Given the description of an element on the screen output the (x, y) to click on. 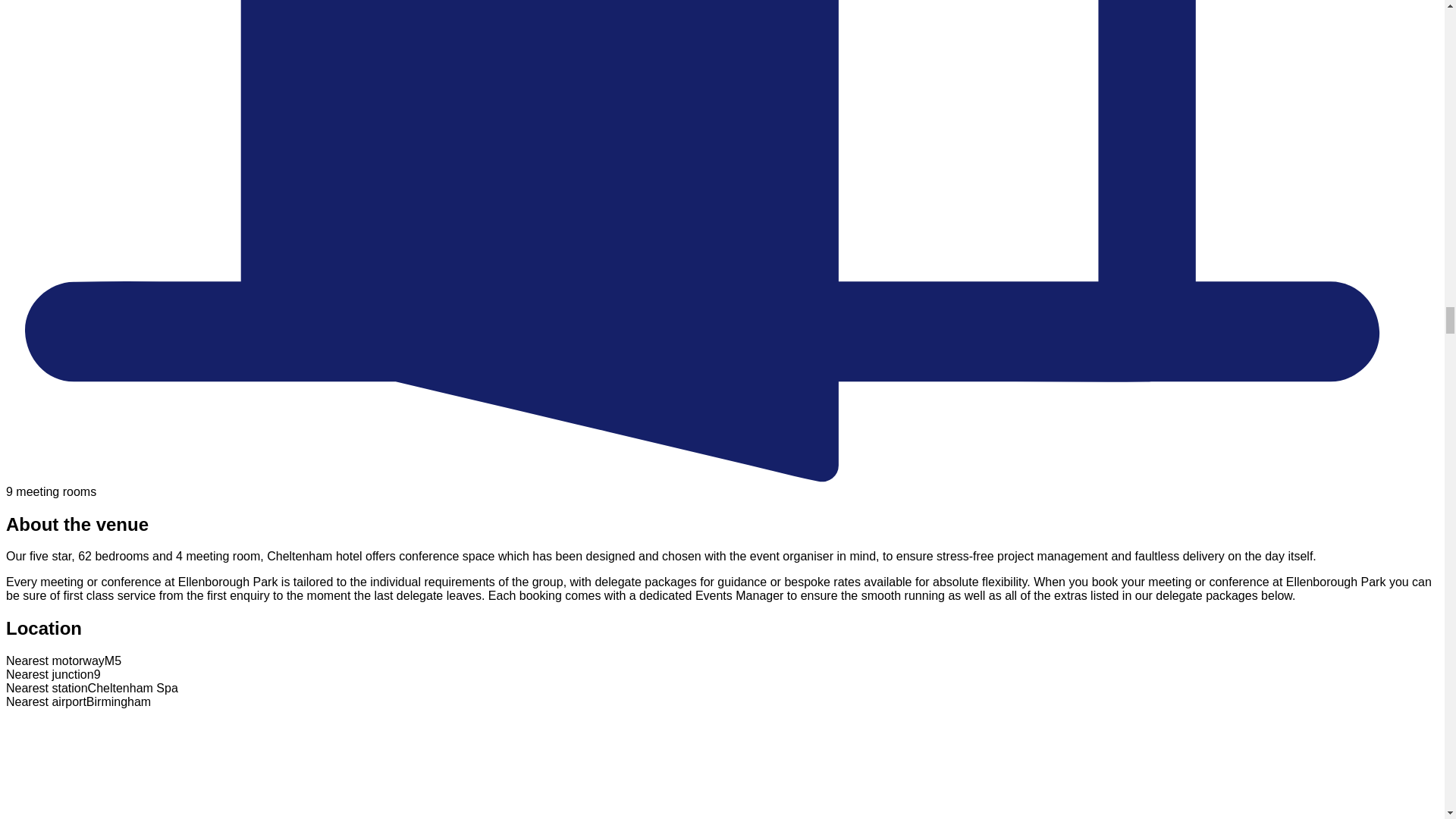
google-map-property (118, 764)
